Given the description of an element on the screen output the (x, y) to click on. 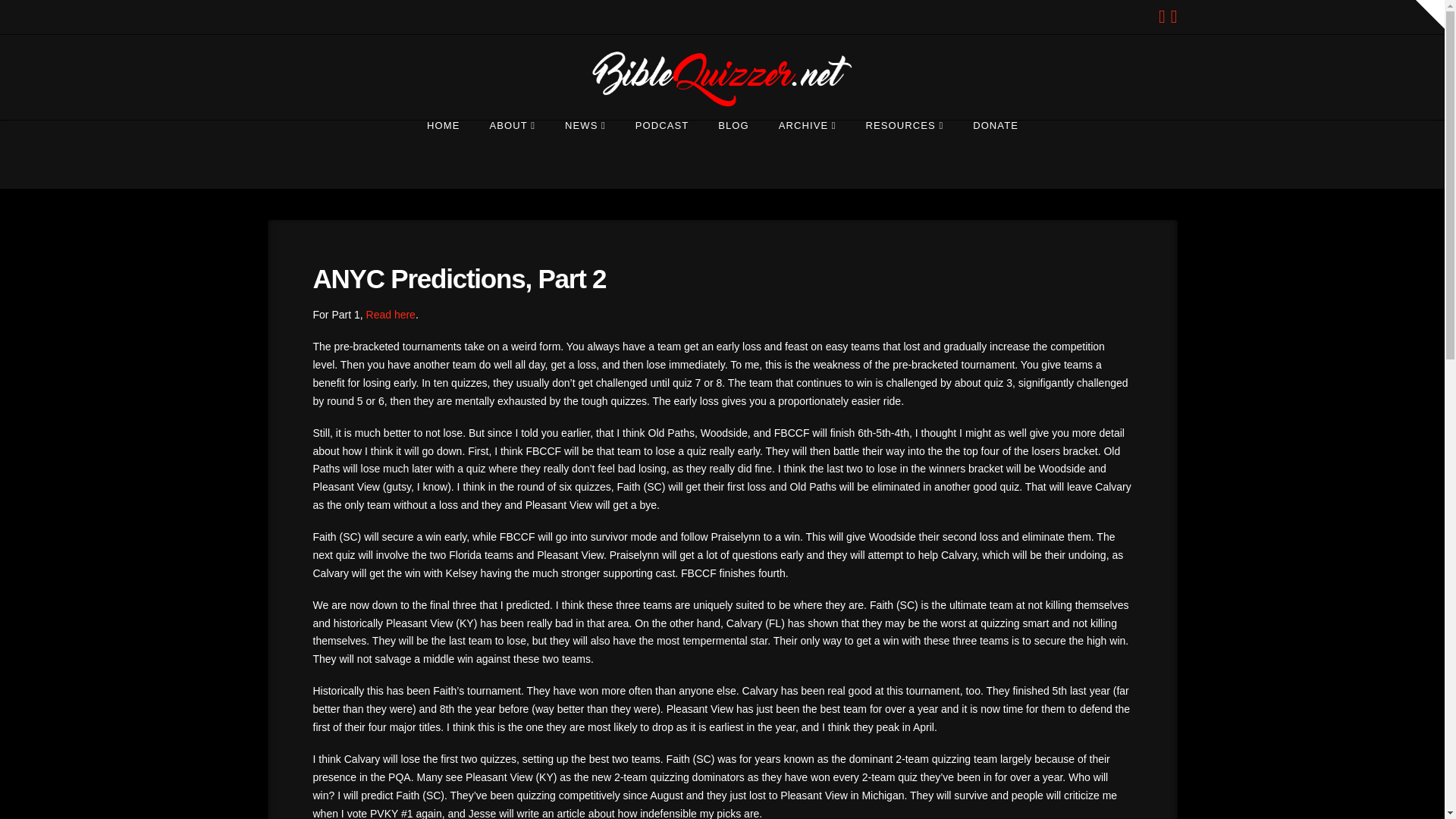
PODCAST (661, 154)
ABOUT (512, 154)
HOME (443, 154)
ARCHIVE (806, 154)
NEWS (585, 154)
